Given the description of an element on the screen output the (x, y) to click on. 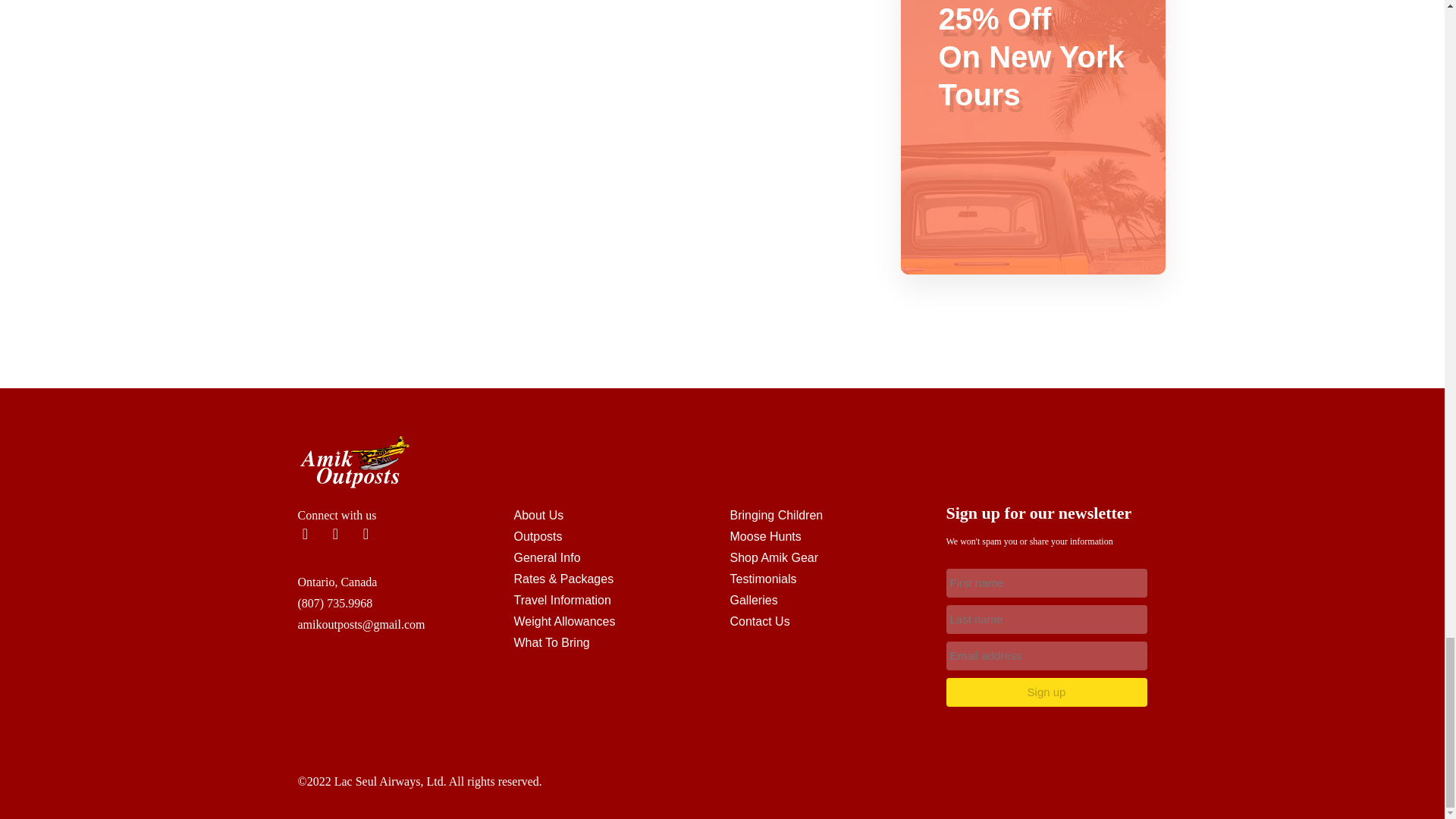
Sign up (1046, 692)
